Given the description of an element on the screen output the (x, y) to click on. 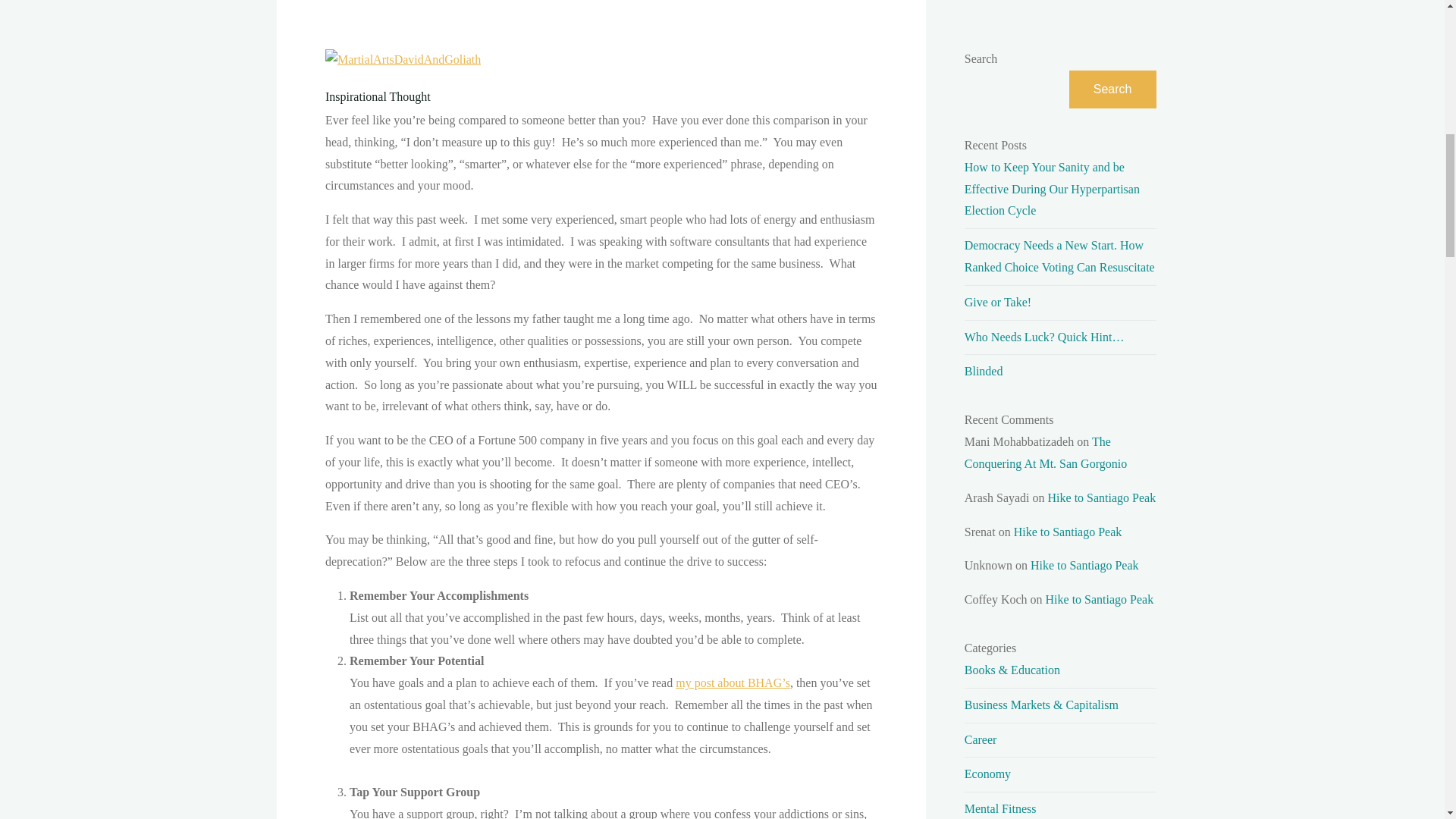
The Conquering At Mt. San Gorgonio (1044, 452)
Search (1112, 89)
Hike to Santiago Peak (1084, 564)
Give or Take! (996, 301)
Mental Fitness (999, 808)
Hike to Santiago Peak (1102, 497)
Blinded (983, 370)
Hike to Santiago Peak (1067, 531)
Career (980, 738)
Economy (986, 773)
Hike to Santiago Peak (1099, 599)
